Given the description of an element on the screen output the (x, y) to click on. 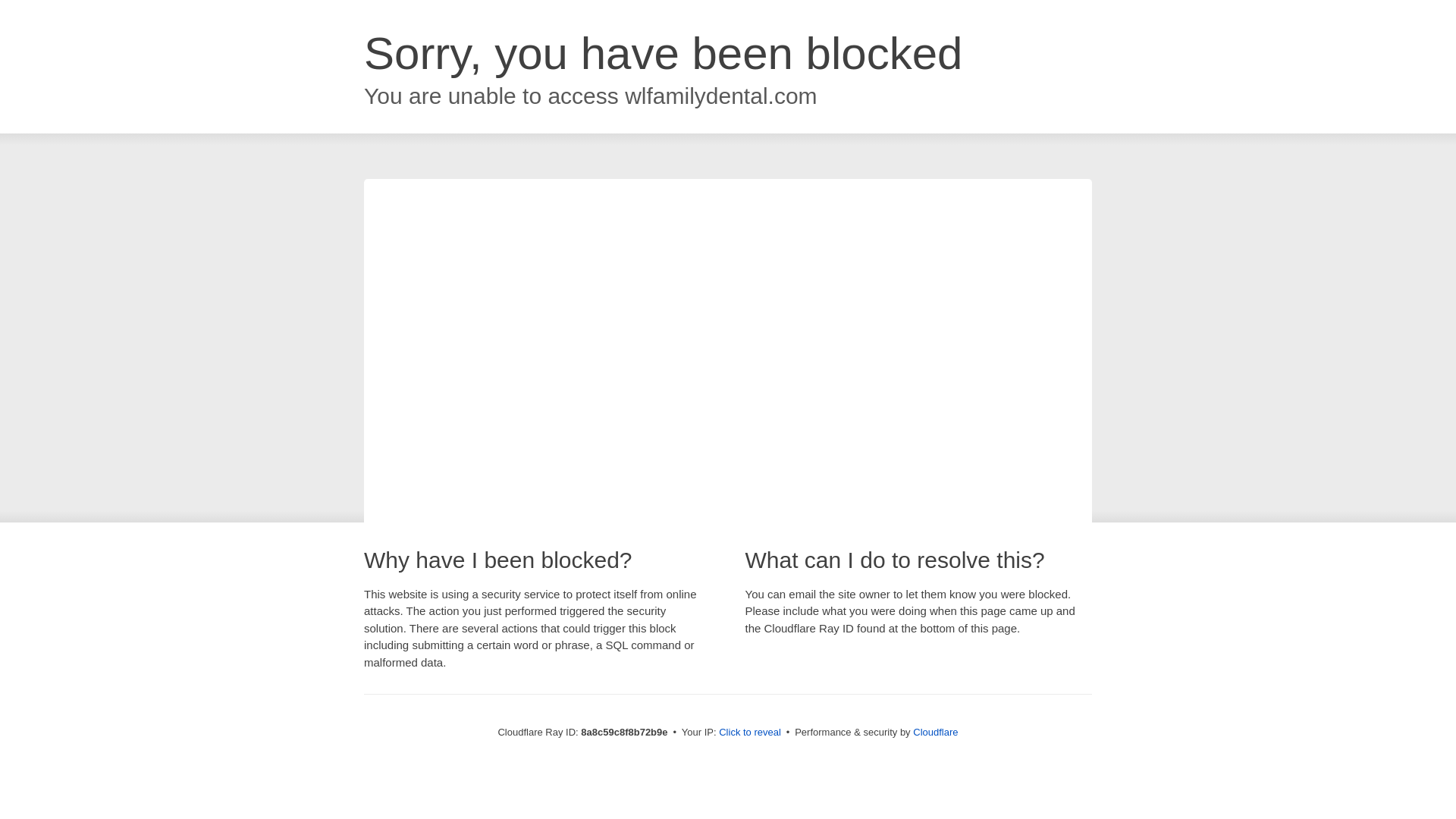
Click to reveal (749, 732)
Cloudflare (935, 731)
